Given the description of an element on the screen output the (x, y) to click on. 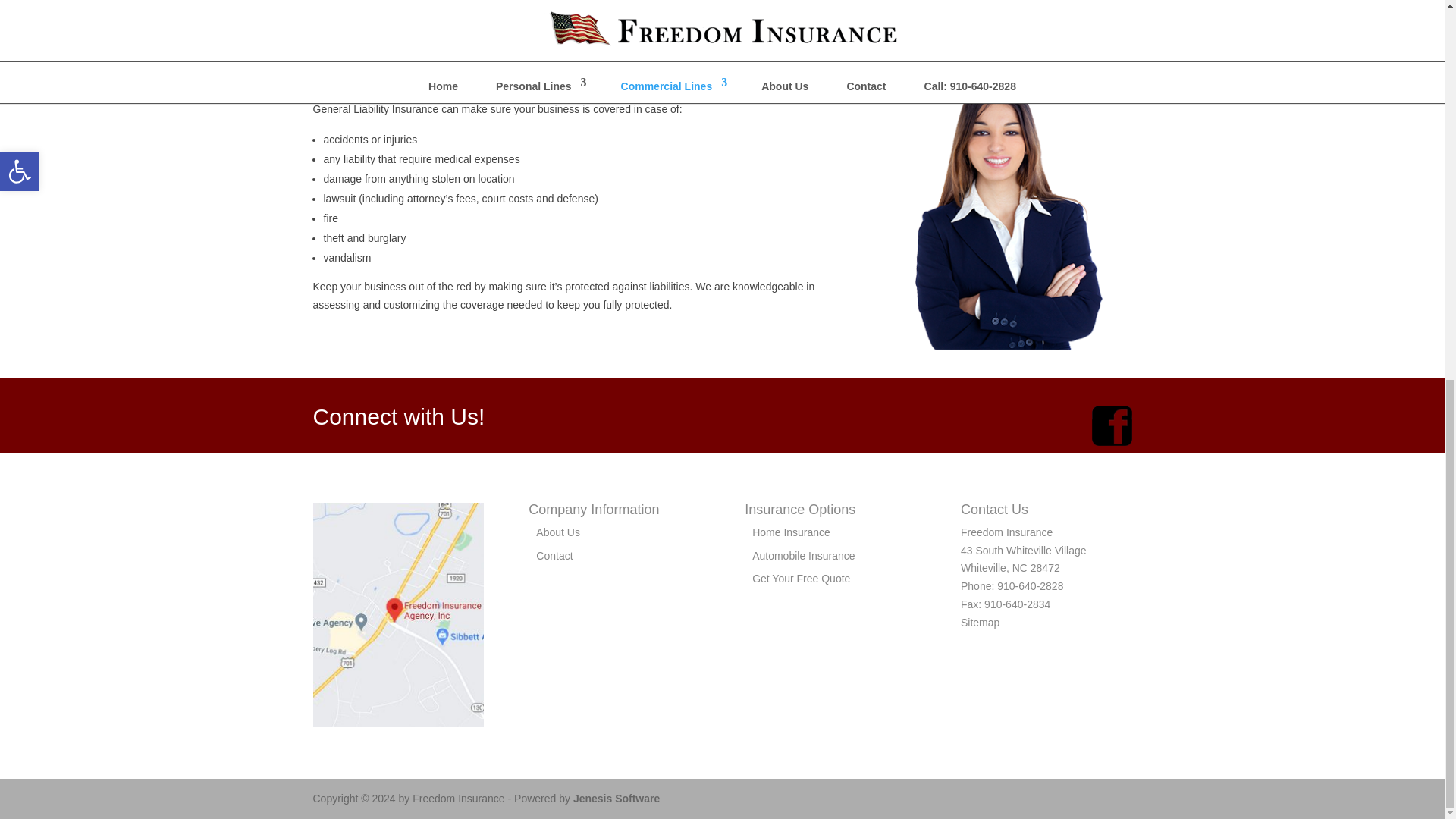
Contact (553, 555)
About Us (557, 532)
